Given the description of an element on the screen output the (x, y) to click on. 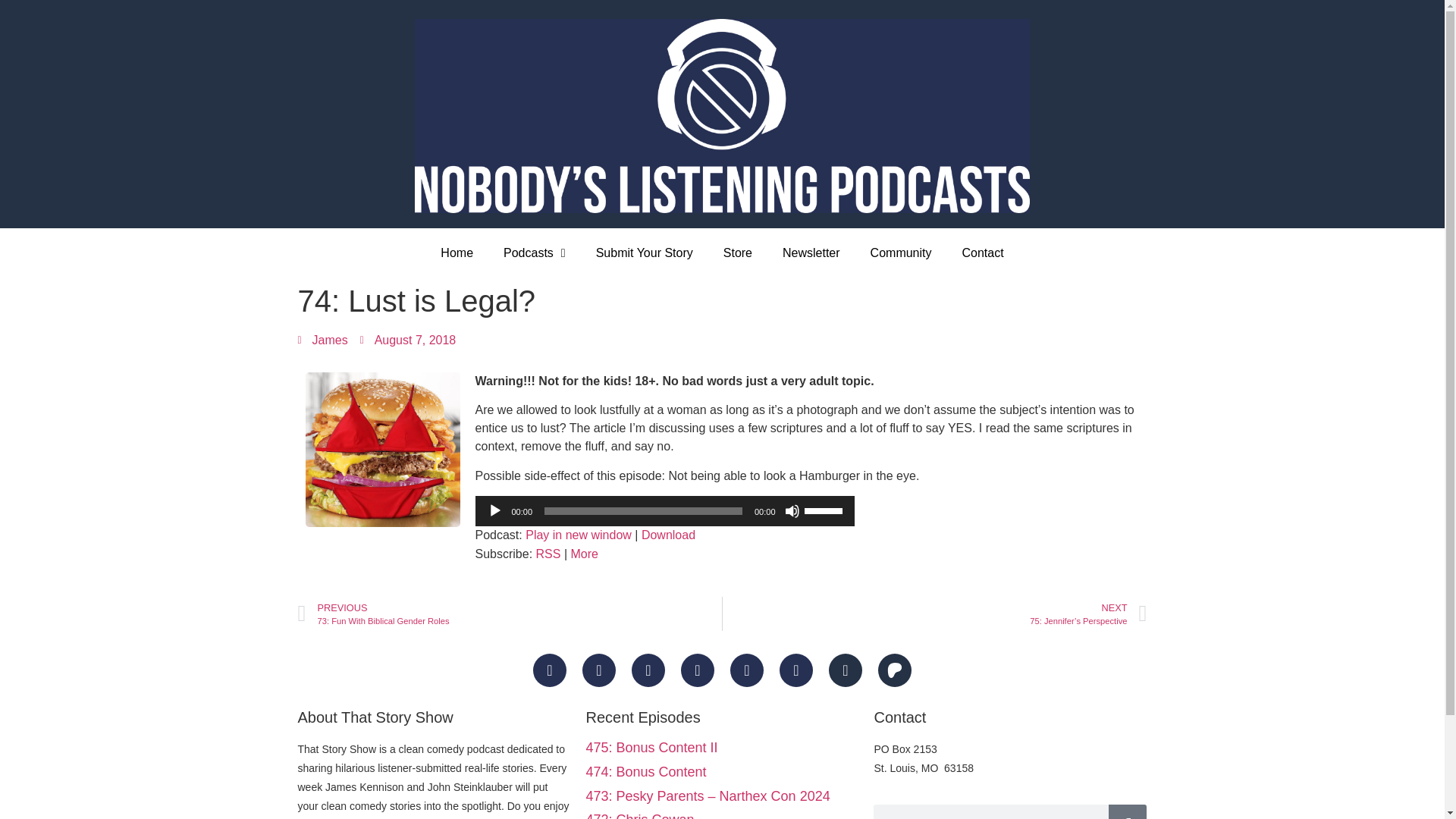
Mute (791, 510)
August 7, 2018 (408, 340)
More (583, 553)
Community (901, 253)
Home (456, 253)
Play in new window (578, 534)
Download (668, 534)
James (322, 340)
RSS (547, 553)
Play (494, 510)
Contact (981, 253)
Download (668, 534)
Podcasts (533, 253)
Store (509, 613)
